Given the description of an element on the screen output the (x, y) to click on. 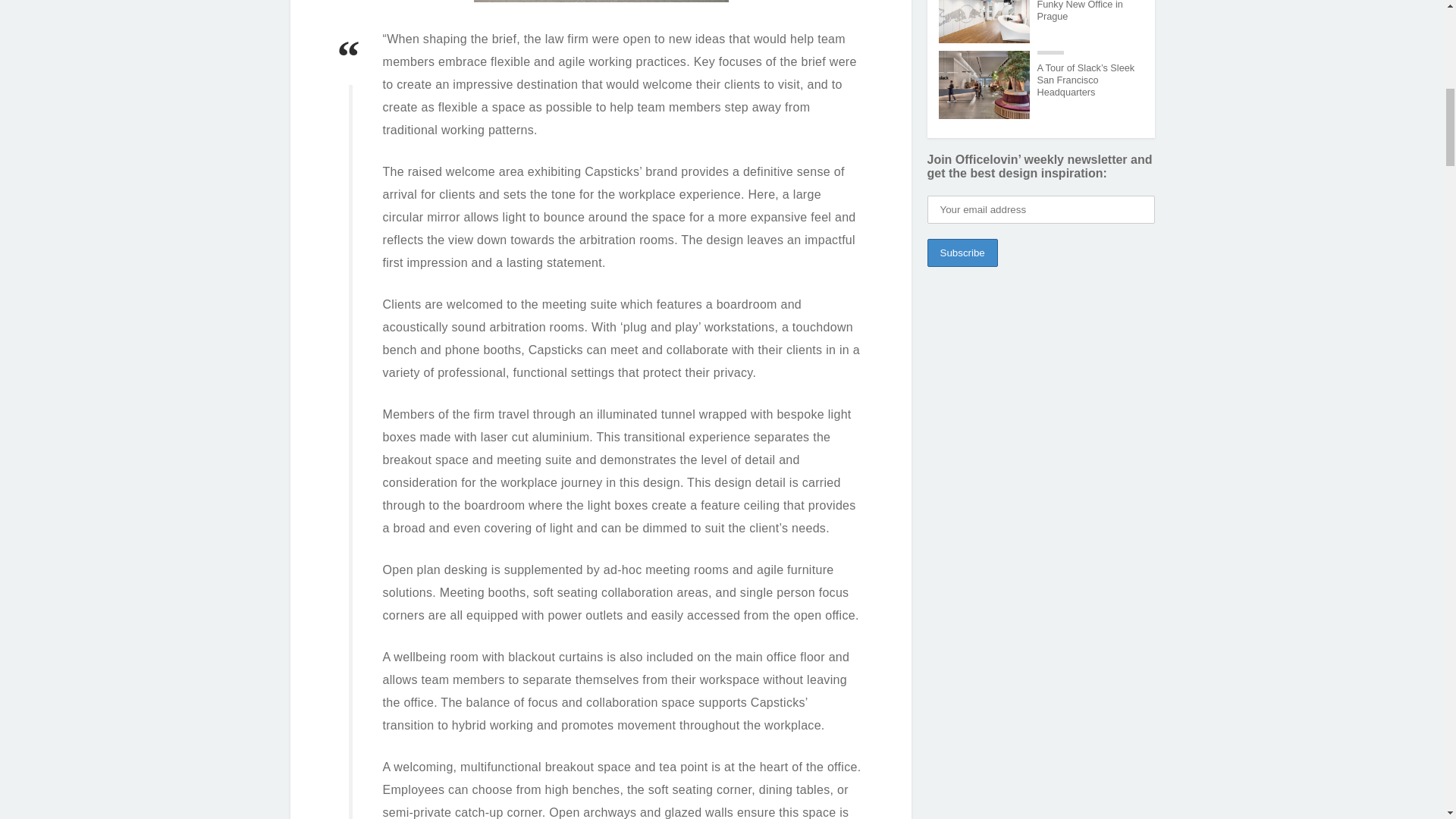
Subscribe (961, 252)
